Given the description of an element on the screen output the (x, y) to click on. 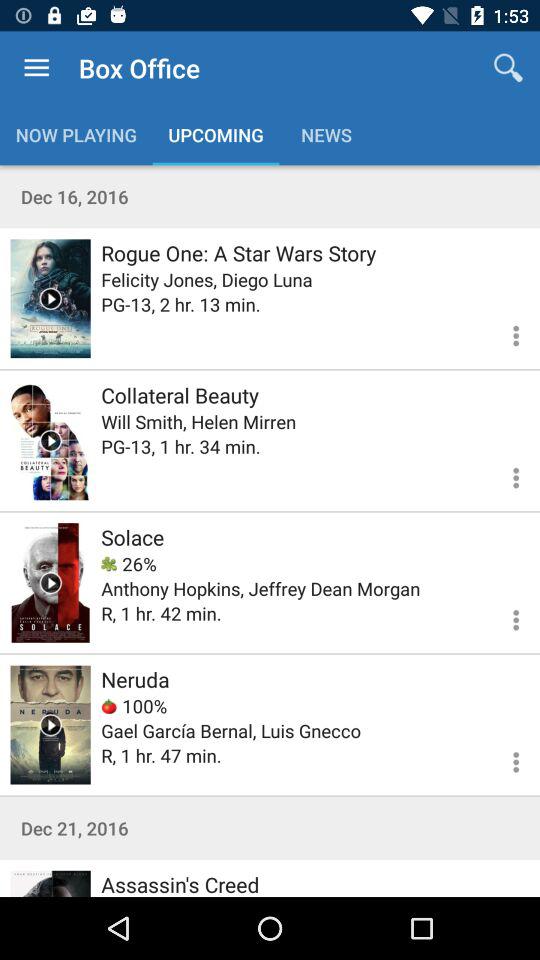
options menu (503, 617)
